Given the description of an element on the screen output the (x, y) to click on. 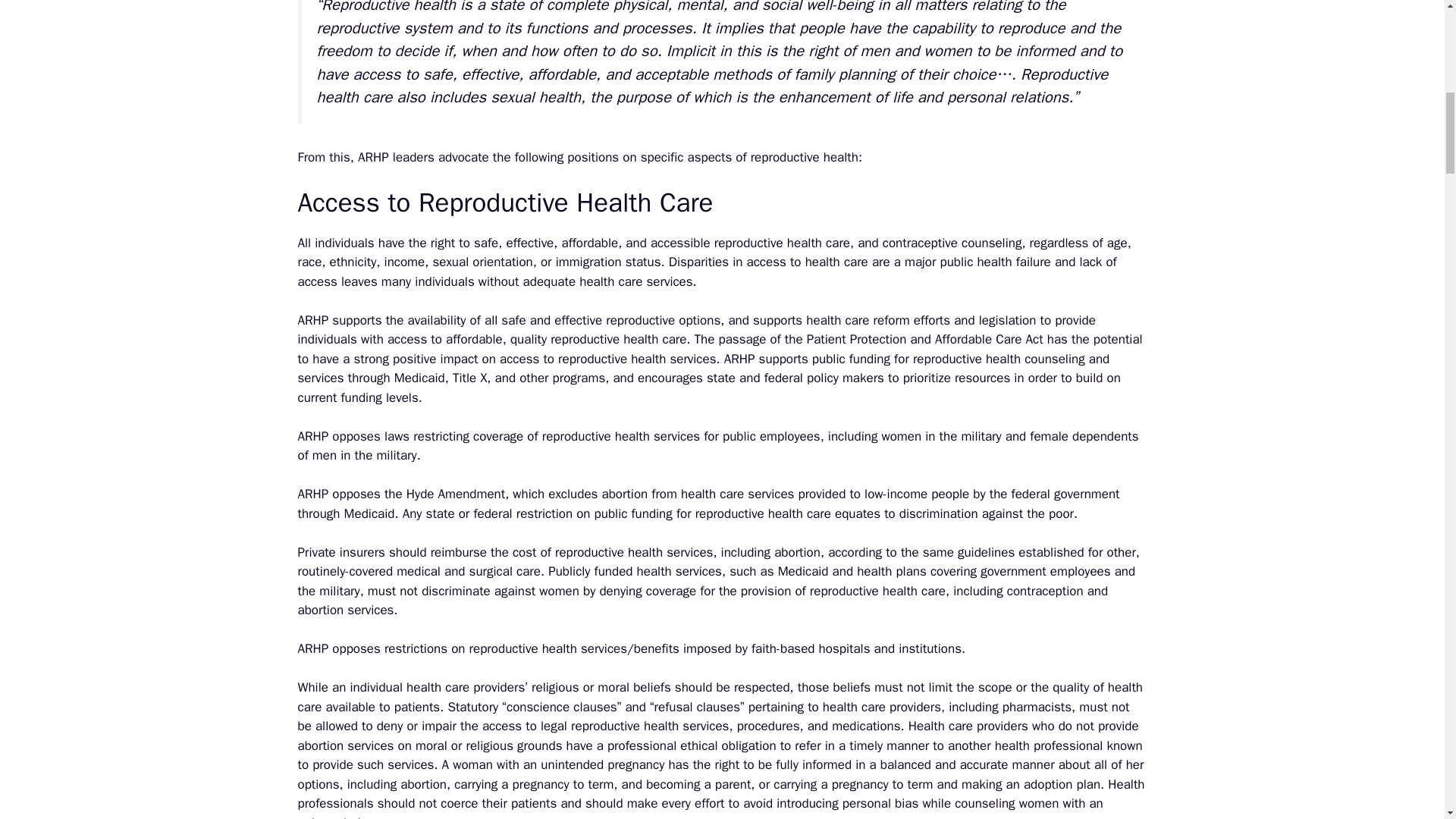
Scroll back to top (1406, 720)
